Given the description of an element on the screen output the (x, y) to click on. 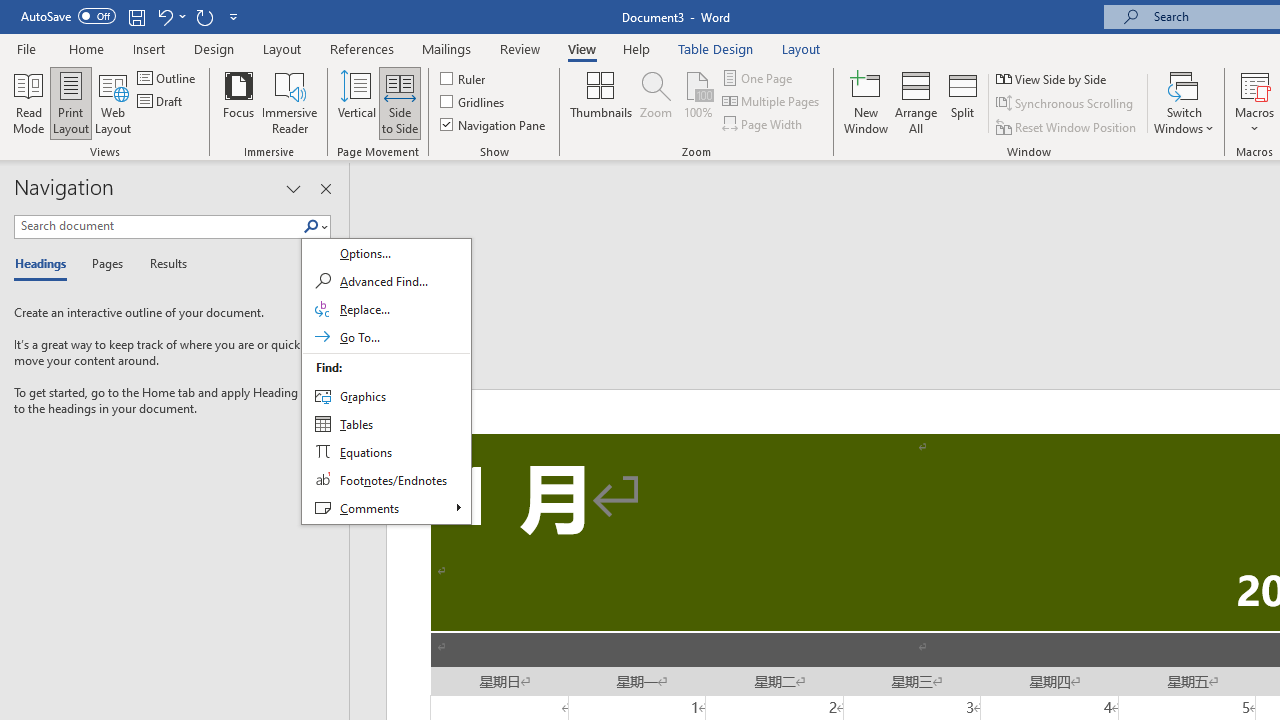
Repeat Doc Close (204, 15)
Customize Quick Access Toolbar (234, 15)
Read Mode (28, 102)
Mailings (447, 48)
Focus (238, 102)
More Options (1254, 121)
Page Width (763, 124)
Reset Window Position (1068, 126)
Outline (168, 78)
Quick Access Toolbar (131, 16)
Save (136, 15)
Headings (45, 264)
Multiple Pages (772, 101)
